Given the description of an element on the screen output the (x, y) to click on. 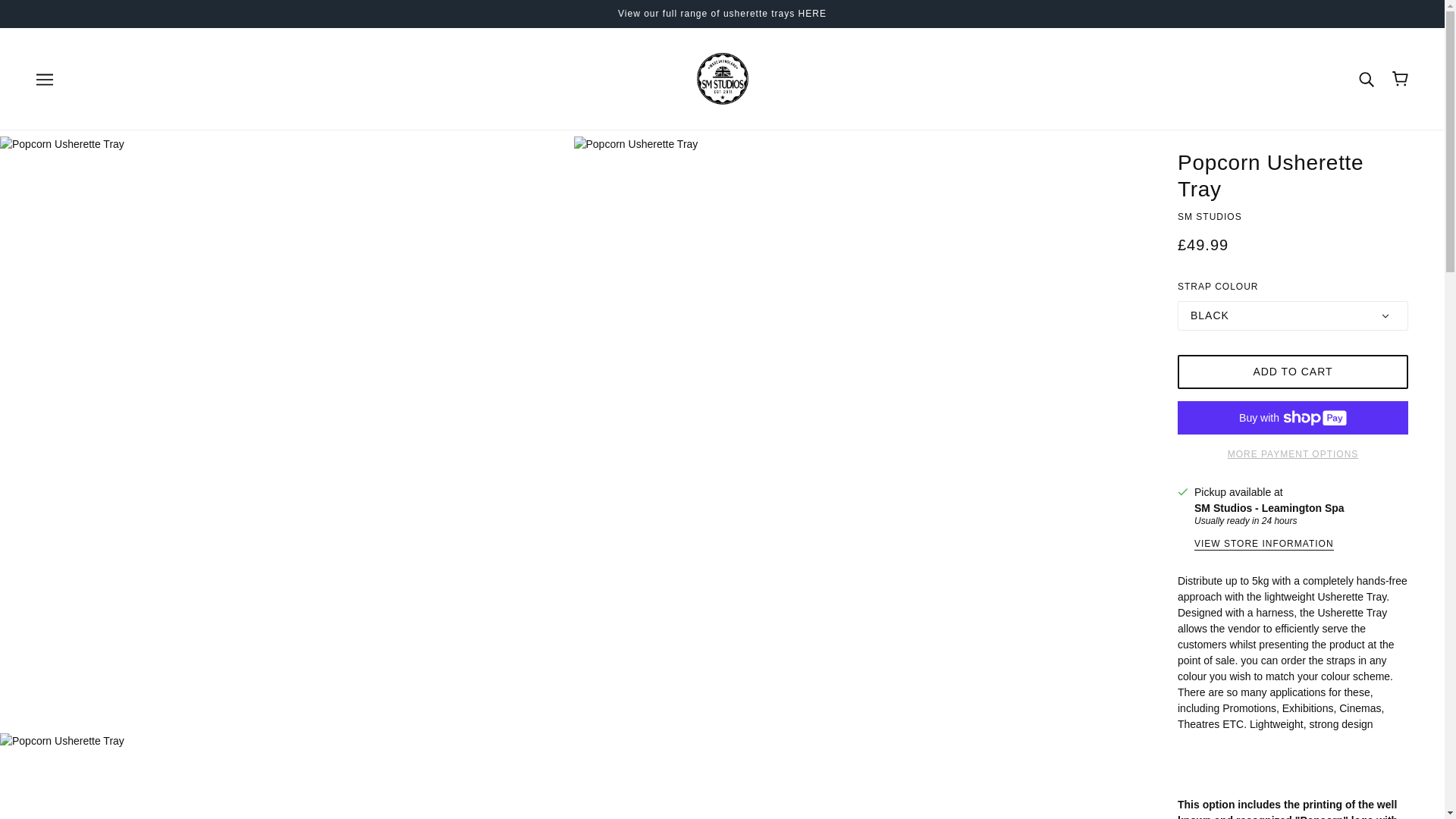
S M Studios (721, 78)
MORE PAYMENT OPTIONS (1292, 448)
ADD TO CART (1292, 371)
SM STUDIOS (1209, 216)
SM Studios - Leamington Spa (1268, 508)
VIEW STORE INFORMATION (1263, 544)
